Given the description of an element on the screen output the (x, y) to click on. 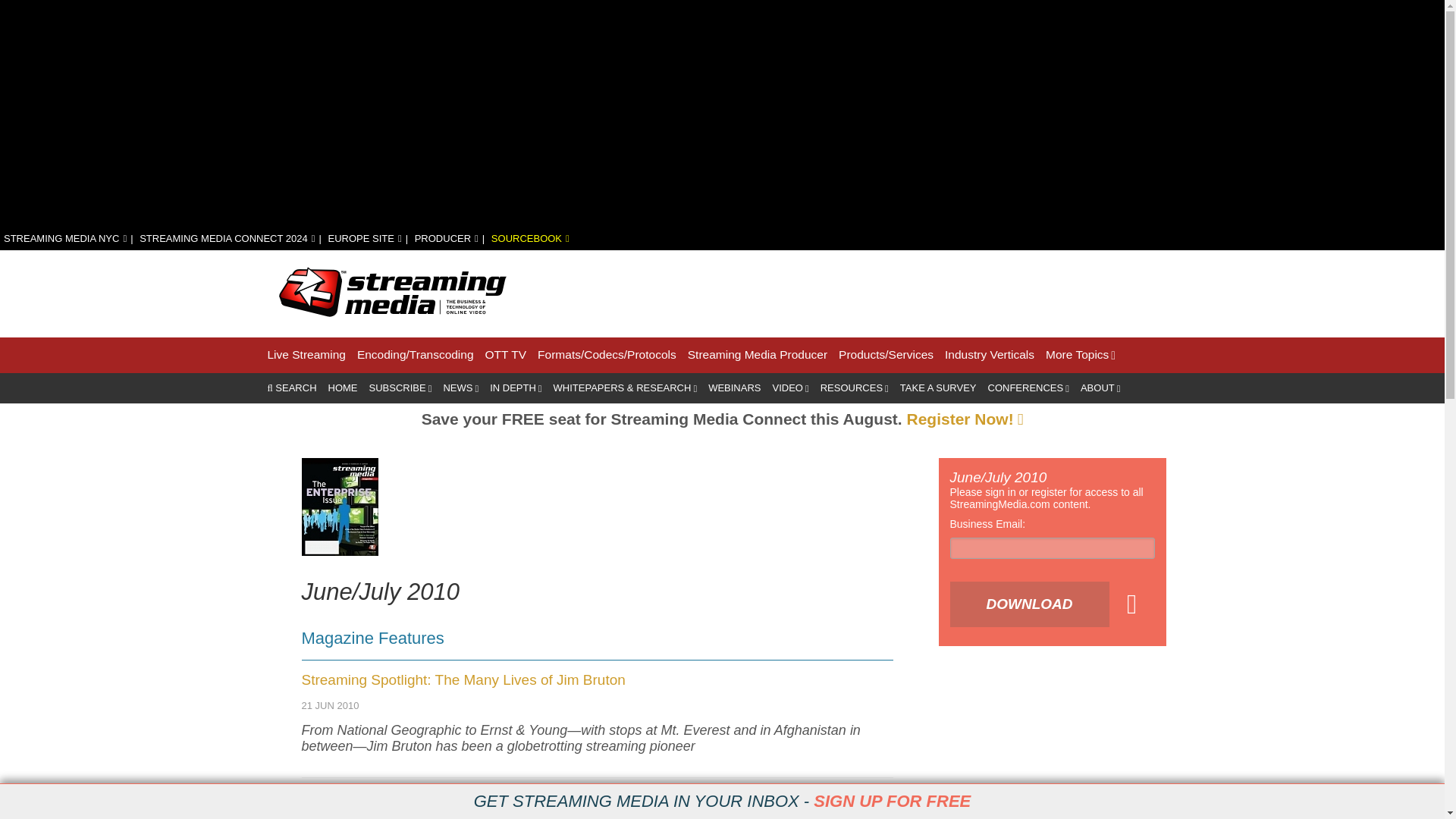
Industry Verticals (988, 355)
HOME (343, 387)
OTT TV (505, 355)
STREAMING MEDIA NYC (65, 238)
 SEARCH (290, 387)
Live Streaming (305, 355)
GET STREAMING MEDIA IN YOUR INBOX - SIGN UP FOR FREE (722, 801)
SUBSCRIBE (400, 388)
PRODUCER (446, 238)
OTT TV (505, 355)
More Topics (1080, 355)
Industry Verticals (988, 355)
Streaming Media Producer (757, 355)
SOURCEBOOK (530, 238)
